Given the description of an element on the screen output the (x, y) to click on. 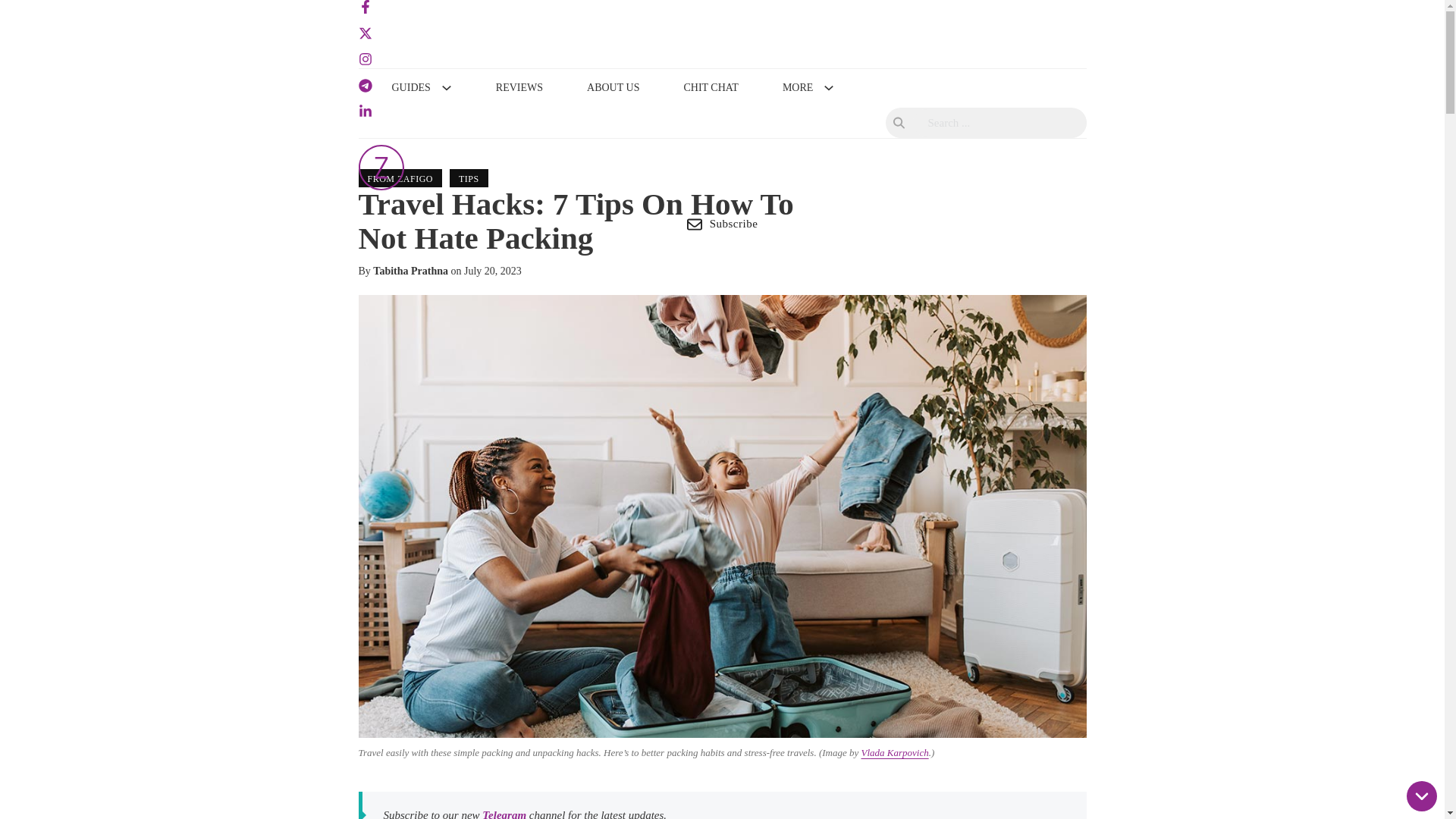
GUIDES (410, 87)
ABOUT US (612, 87)
MORE (797, 87)
Subscribe (722, 223)
REVIEWS (518, 87)
Posts by Tabitha Prathna (410, 270)
CHIT CHAT (710, 87)
